Given the description of an element on the screen output the (x, y) to click on. 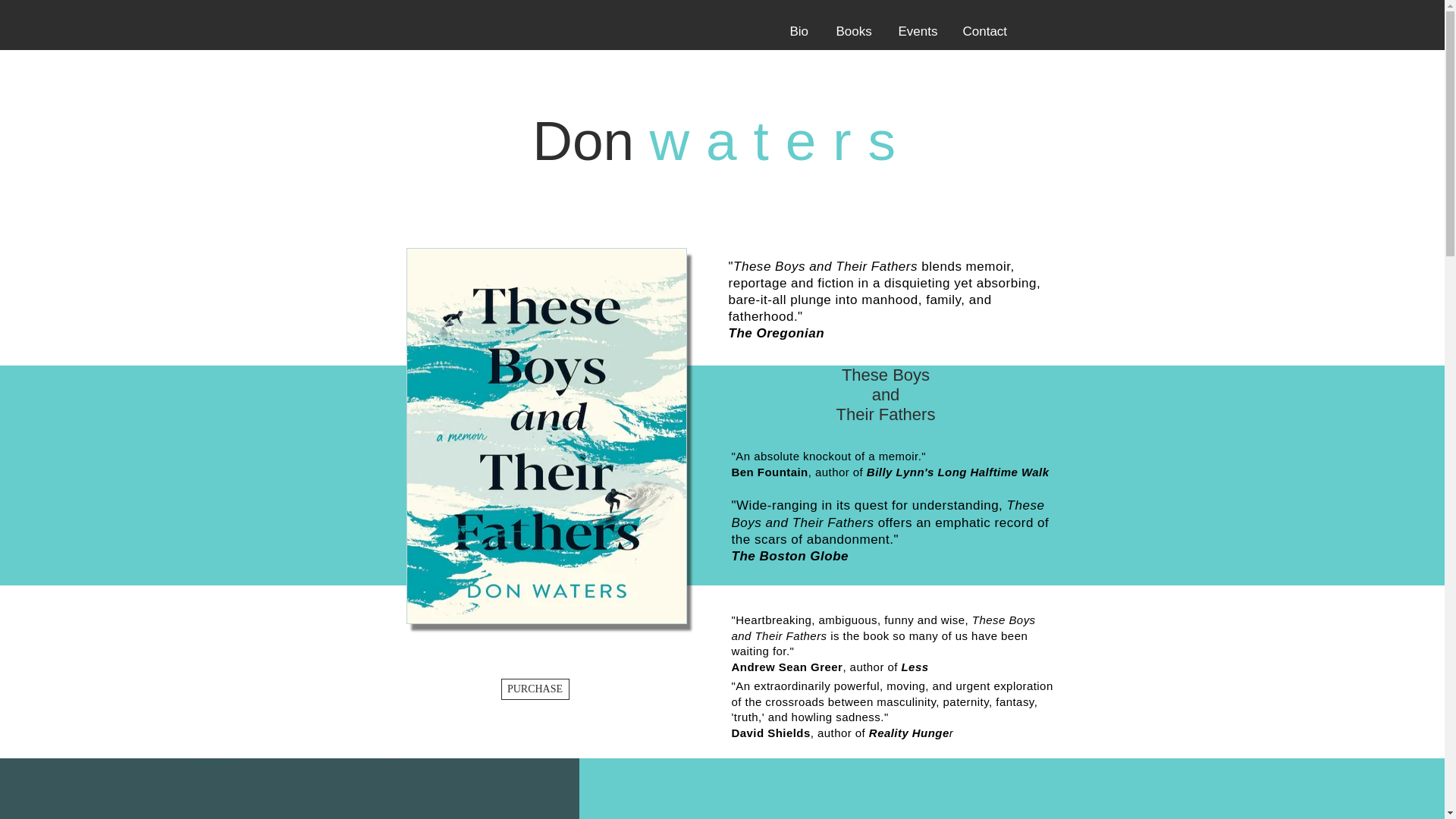
Bio (799, 24)
Don waters (722, 140)
PURCHASE (534, 689)
Contact (985, 24)
Events (916, 24)
Books (852, 24)
